Given the description of an element on the screen output the (x, y) to click on. 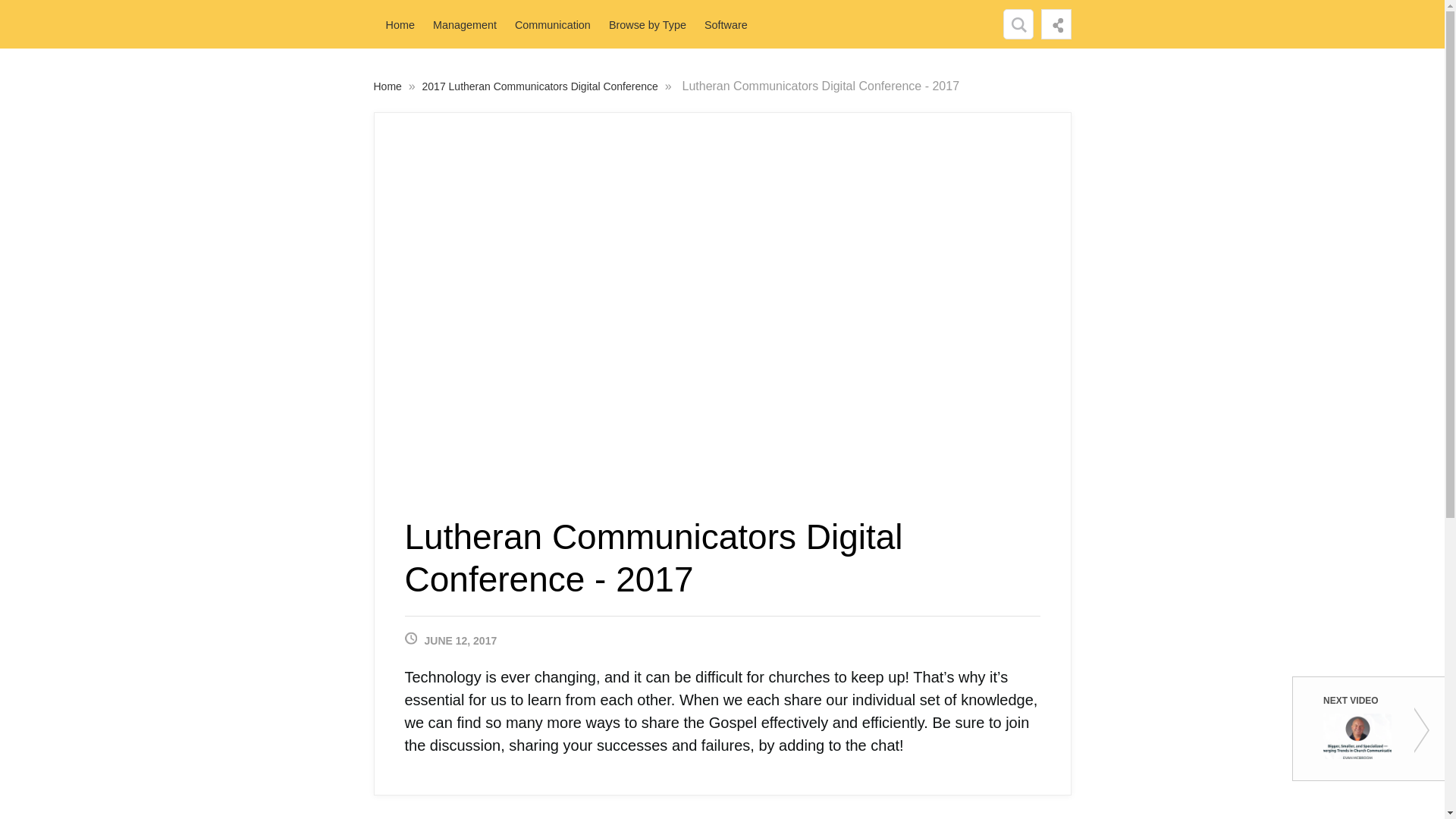
Management (465, 23)
2017 Lutheran Communicators Digital Conference (541, 86)
Software (726, 23)
Home (388, 86)
Browse by Type (647, 23)
Communication (552, 23)
Home (399, 23)
